Given the description of an element on the screen output the (x, y) to click on. 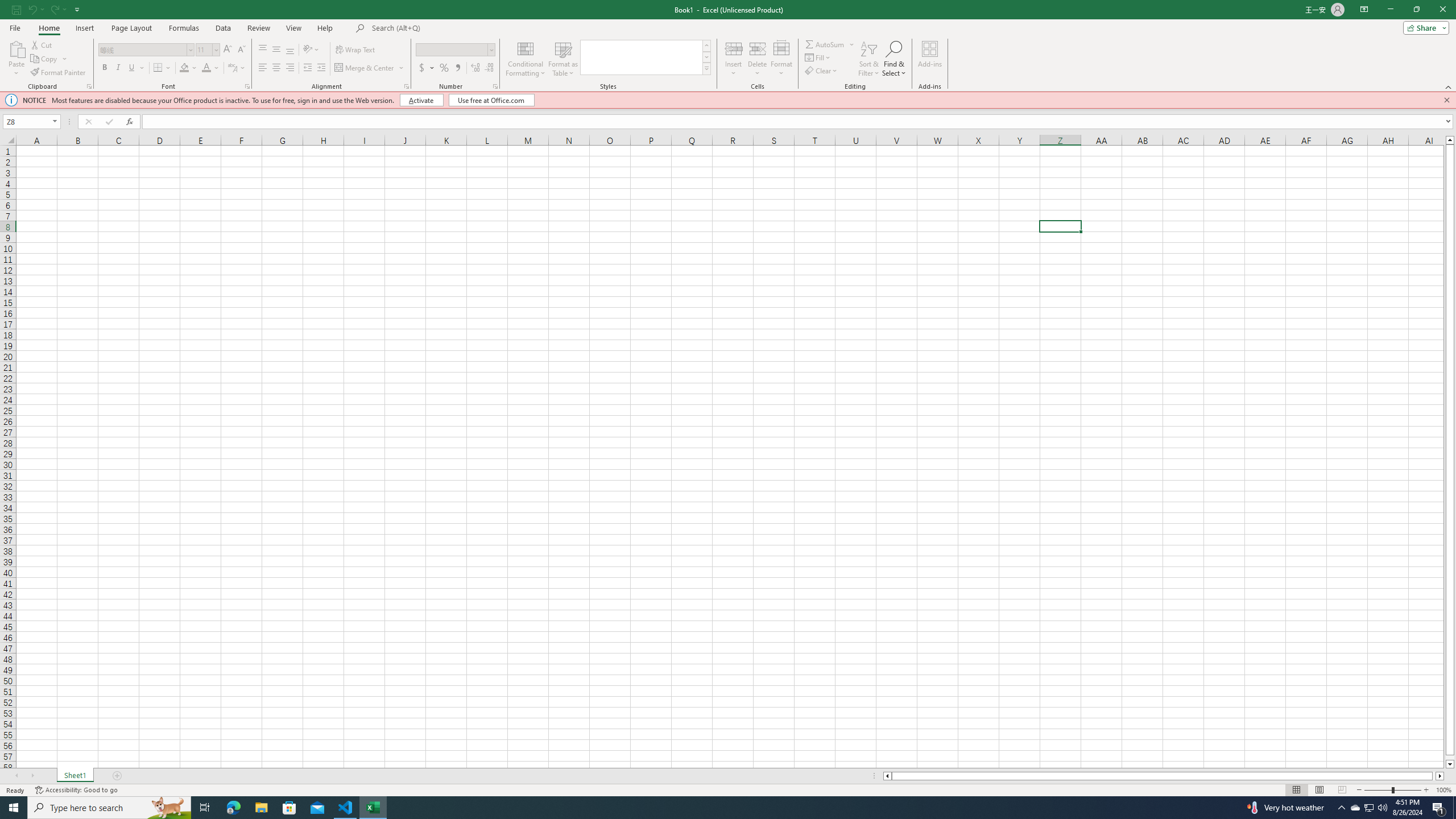
Number Format (455, 49)
Font (147, 49)
Merge & Center (369, 67)
Fill Color (183, 67)
Align Left (262, 67)
Delete (757, 58)
Borders (162, 67)
Copy (45, 58)
Use free at Office.com (491, 100)
